Given the description of an element on the screen output the (x, y) to click on. 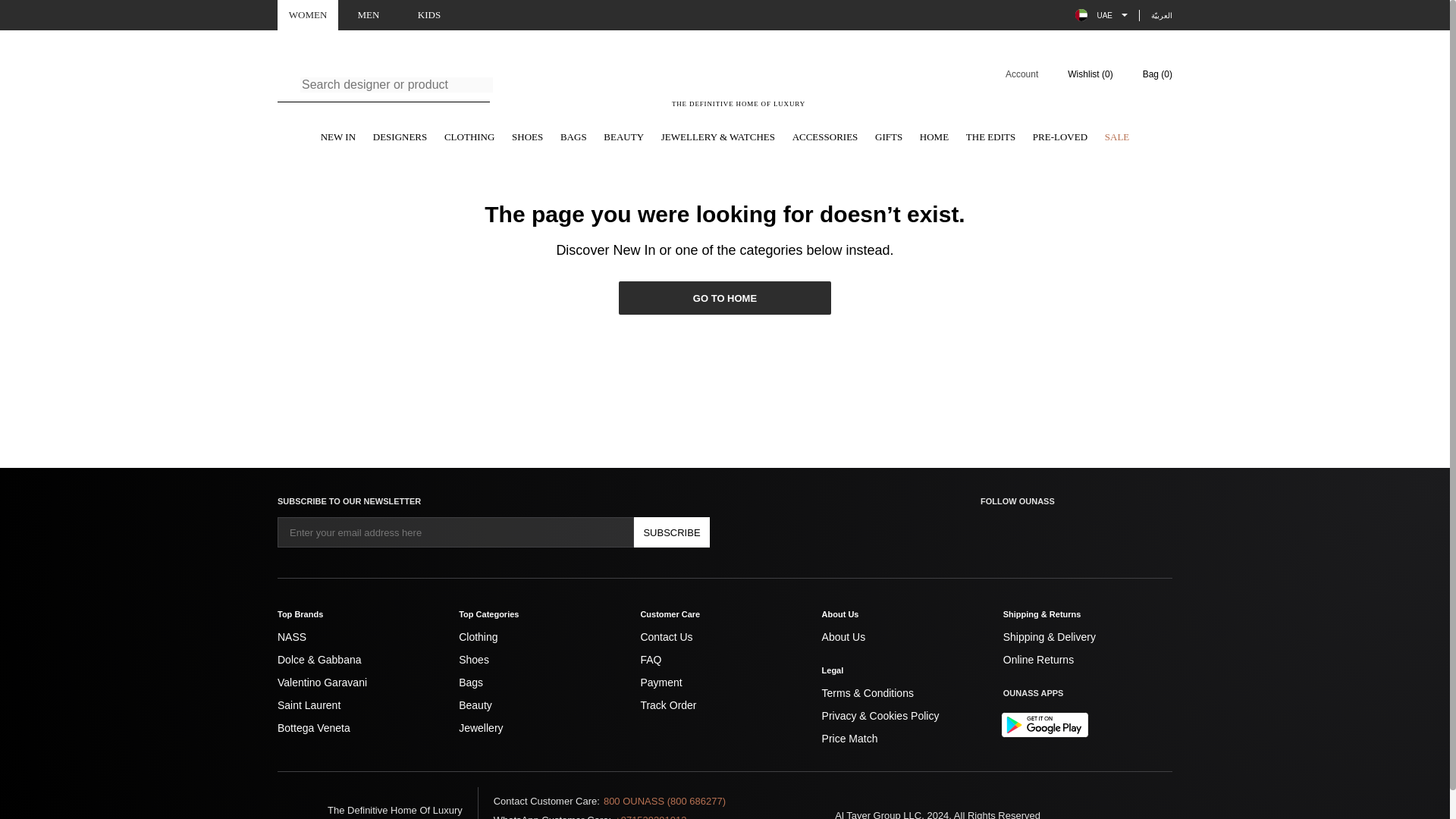
GO TO HOME (724, 297)
KIDS (429, 15)
ACCESSORIES (825, 137)
GIFTS (888, 137)
HOME (934, 137)
MEN (367, 15)
THE DEFINITIVE HOME OF LUXURY (738, 83)
CLOTHING (469, 137)
THE EDITS (990, 137)
BAGS (573, 137)
